Given the description of an element on the screen output the (x, y) to click on. 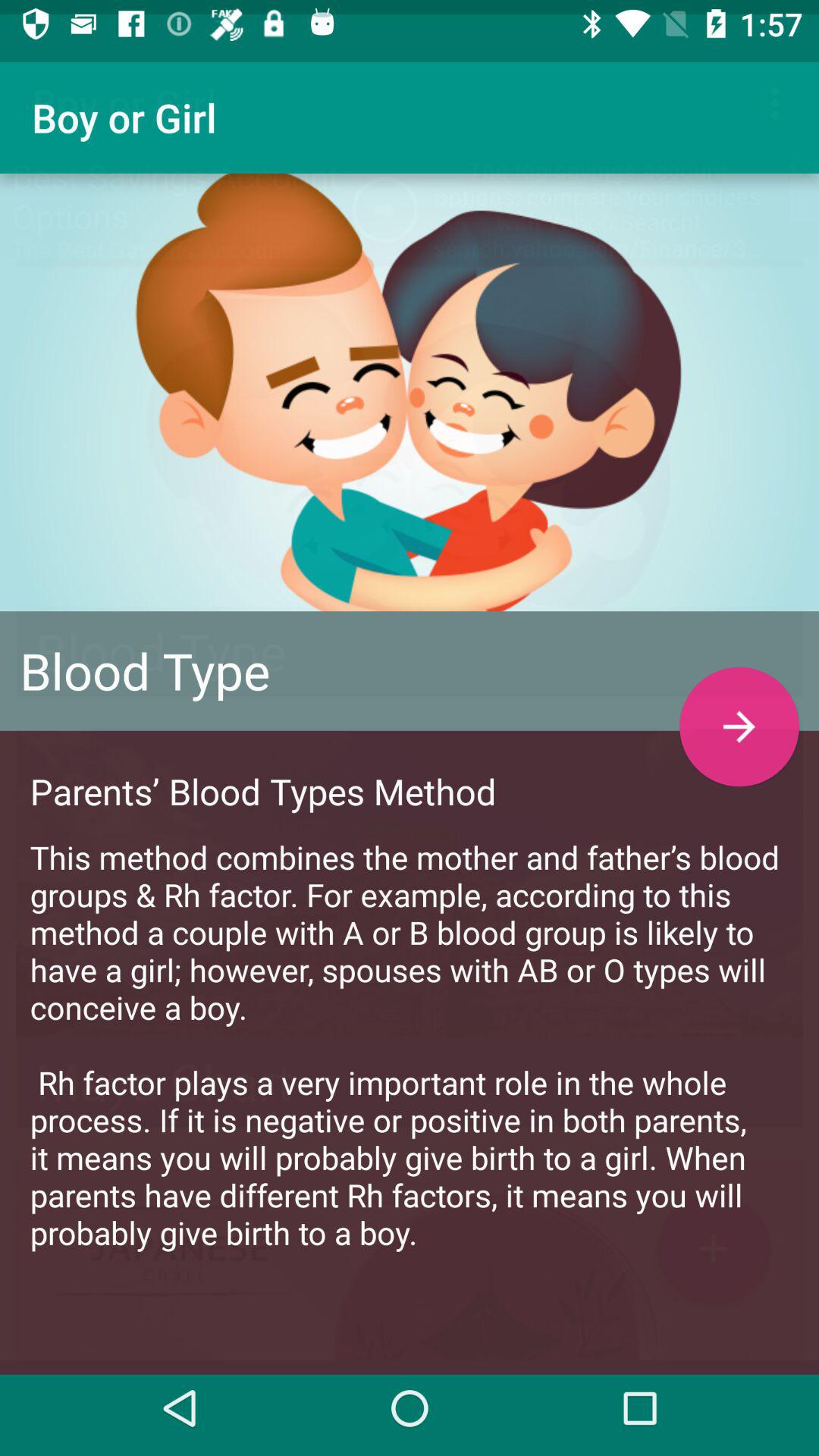
move to next page (739, 712)
